Given the description of an element on the screen output the (x, y) to click on. 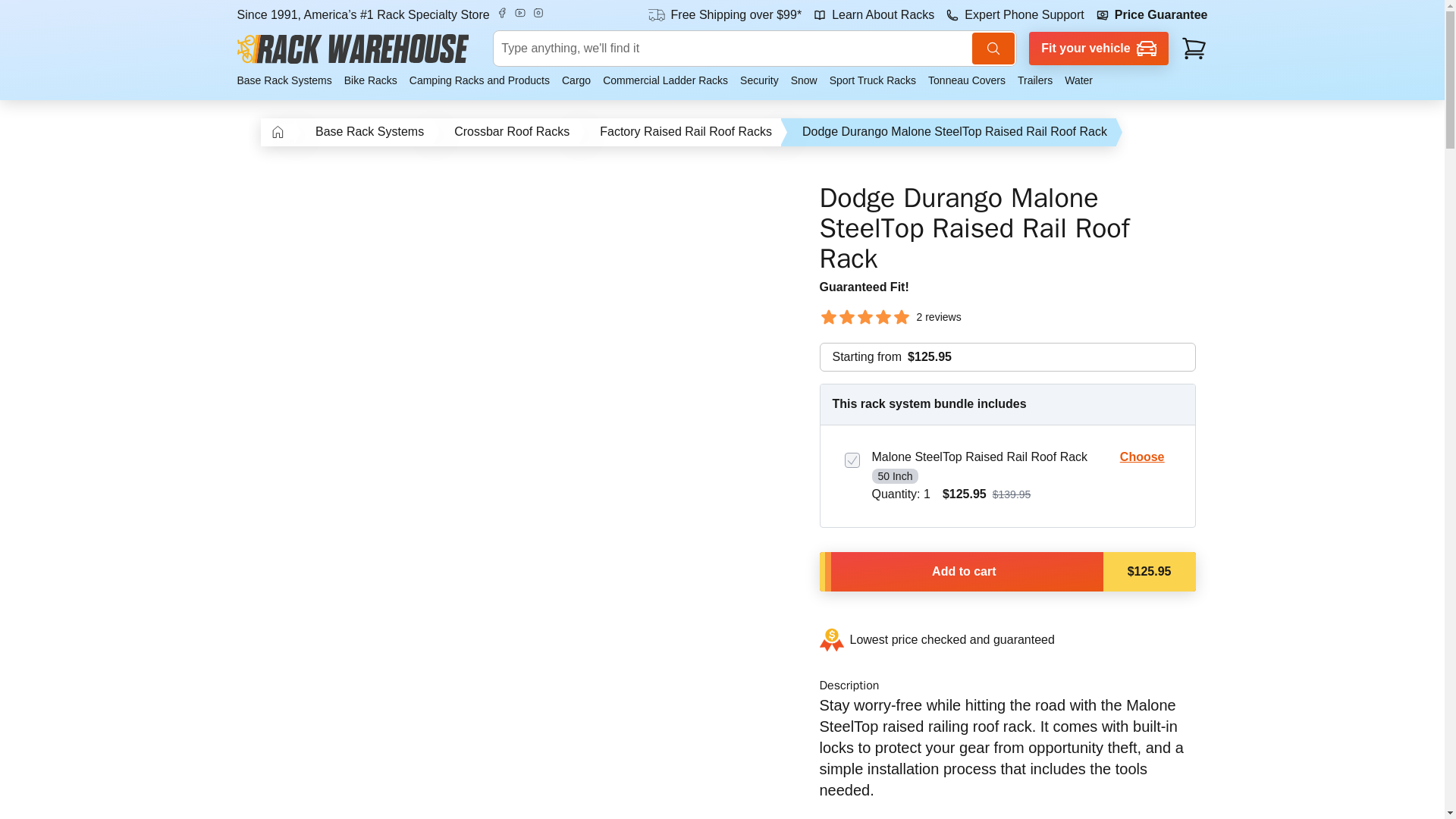
Sport Truck Racks (872, 79)
Snow (804, 79)
Bike Racks (370, 79)
Water (1075, 79)
Type anything, we'll find it (754, 48)
Learn About Racks (873, 14)
Cargo (576, 79)
Fit your vehicle (1099, 48)
Camping Racks and Products (479, 79)
Expert Phone Support (1014, 14)
Crossbar Roof Racks (511, 131)
Factory Raised Rail Roof Racks (685, 131)
Base Rack Systems (368, 131)
Commercial Ladder Racks (664, 79)
Trailers (1034, 79)
